Given the description of an element on the screen output the (x, y) to click on. 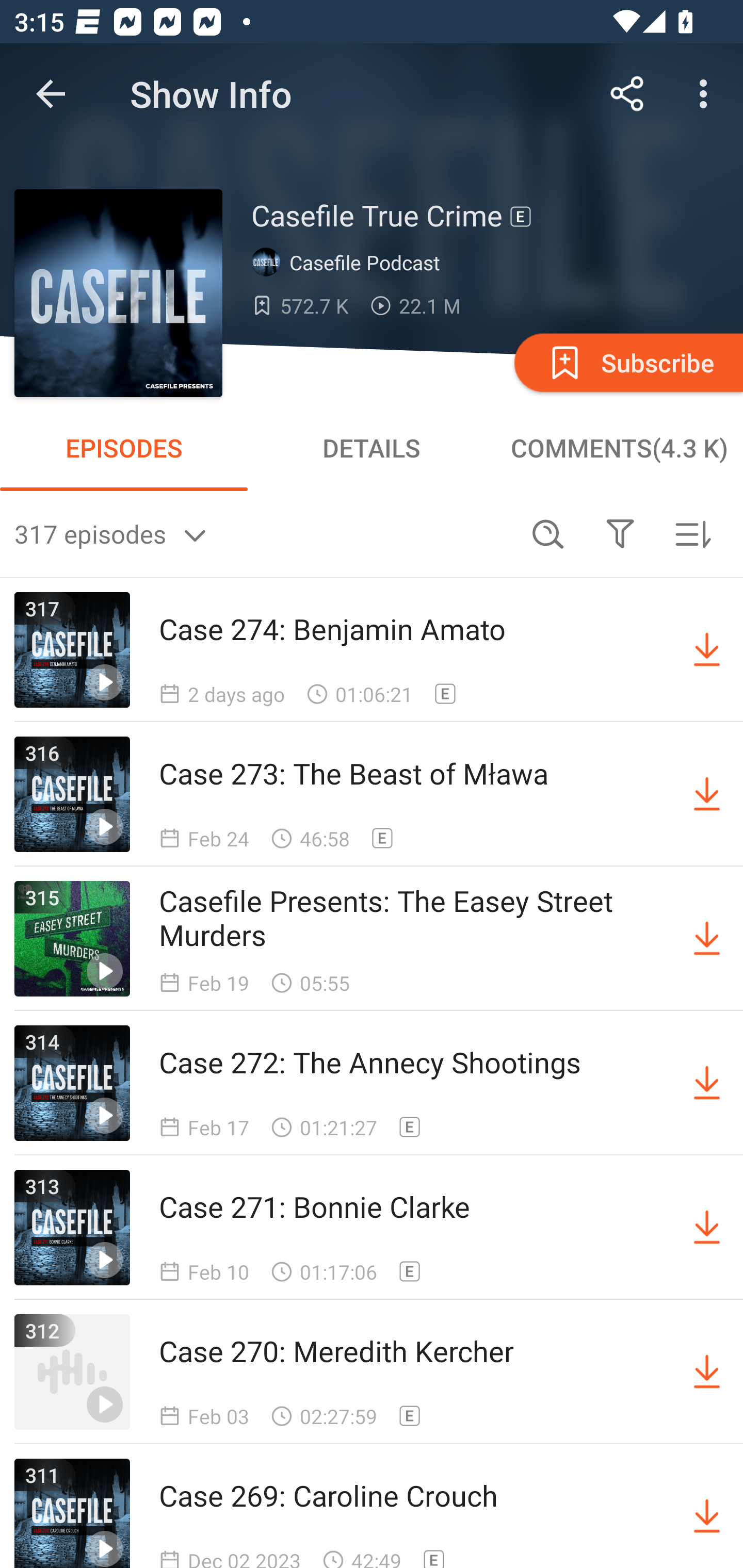
Navigate up (50, 93)
Share (626, 93)
More options (706, 93)
Casefile Podcast (350, 262)
Subscribe (627, 361)
EPISODES (123, 447)
DETAILS (371, 447)
COMMENTS(4.3 K) (619, 447)
317 episodes  (262, 533)
 Search (547, 533)
 (619, 533)
 Sorted by newest first (692, 533)
Download (706, 649)
Download (706, 793)
Download (706, 939)
Download (706, 1083)
Download (706, 1227)
Download (706, 1371)
Download (706, 1513)
